Given the description of an element on the screen output the (x, y) to click on. 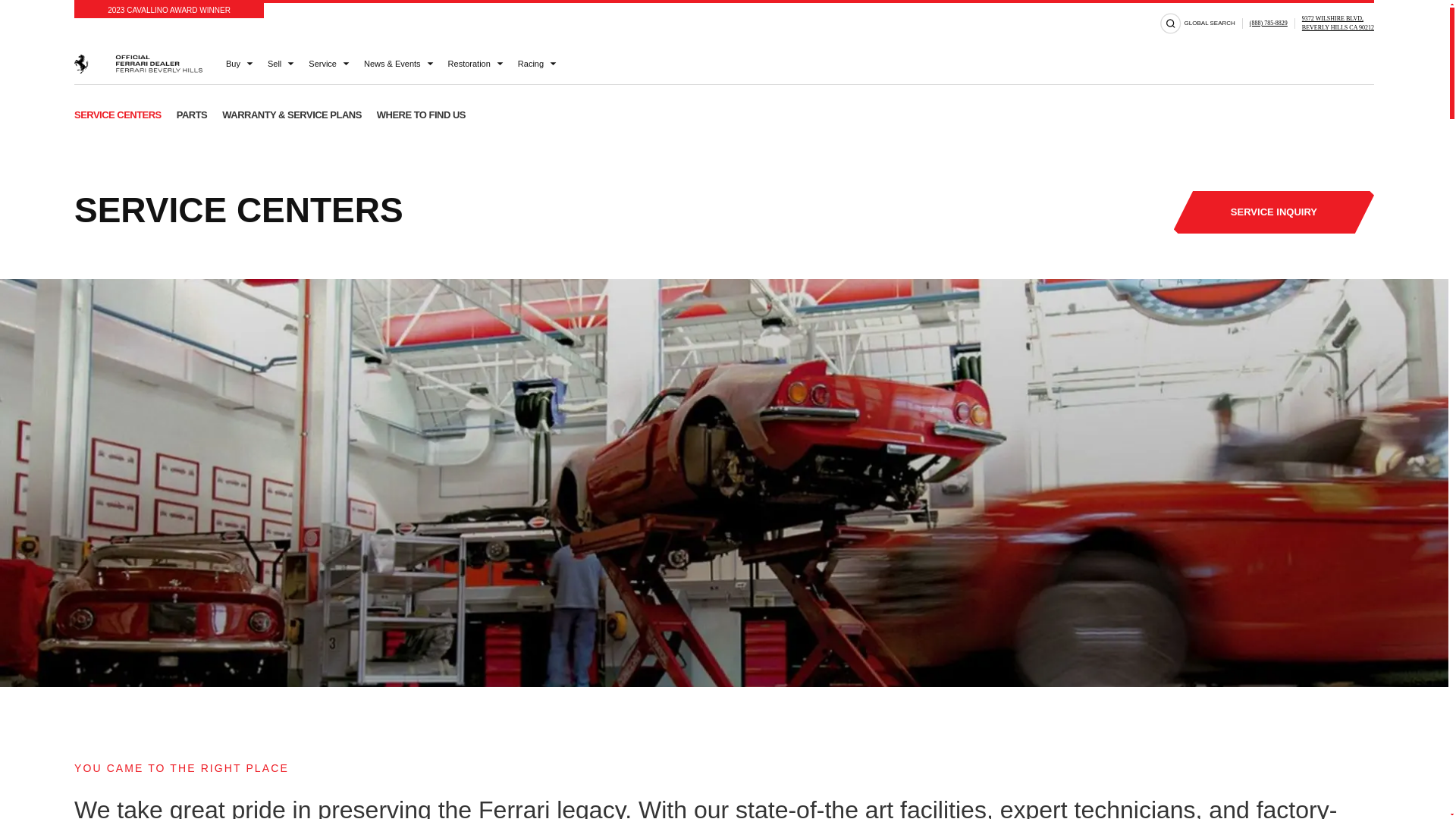
WHERE TO FIND US (421, 114)
SERVICE CENTERS (117, 114)
SERVICE INQUIRY (1273, 211)
2023 CAVALLINO AWARD WINNER (168, 10)
PARTS (1337, 23)
GLOBAL SEARCH (192, 114)
